Given the description of an element on the screen output the (x, y) to click on. 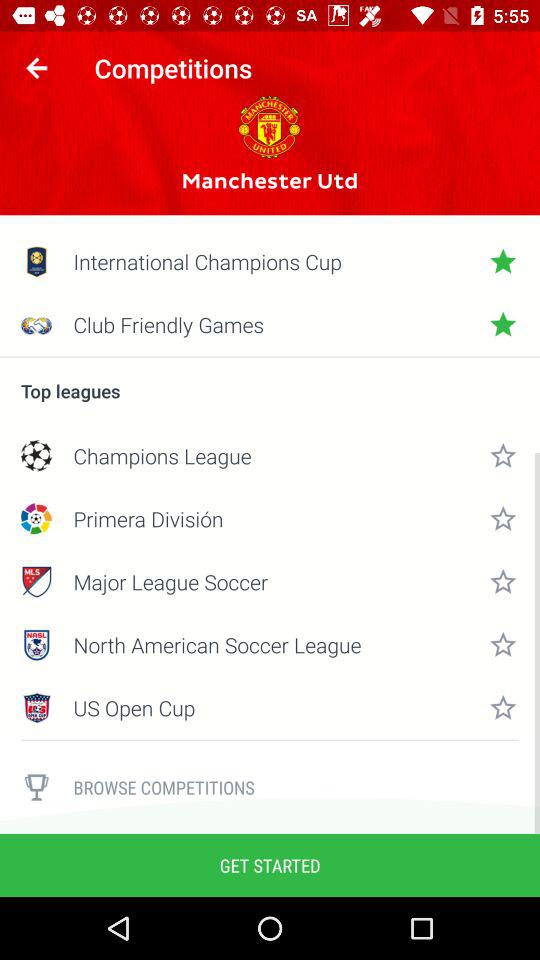
turn on the club friendly games icon (269, 324)
